Given the description of an element on the screen output the (x, y) to click on. 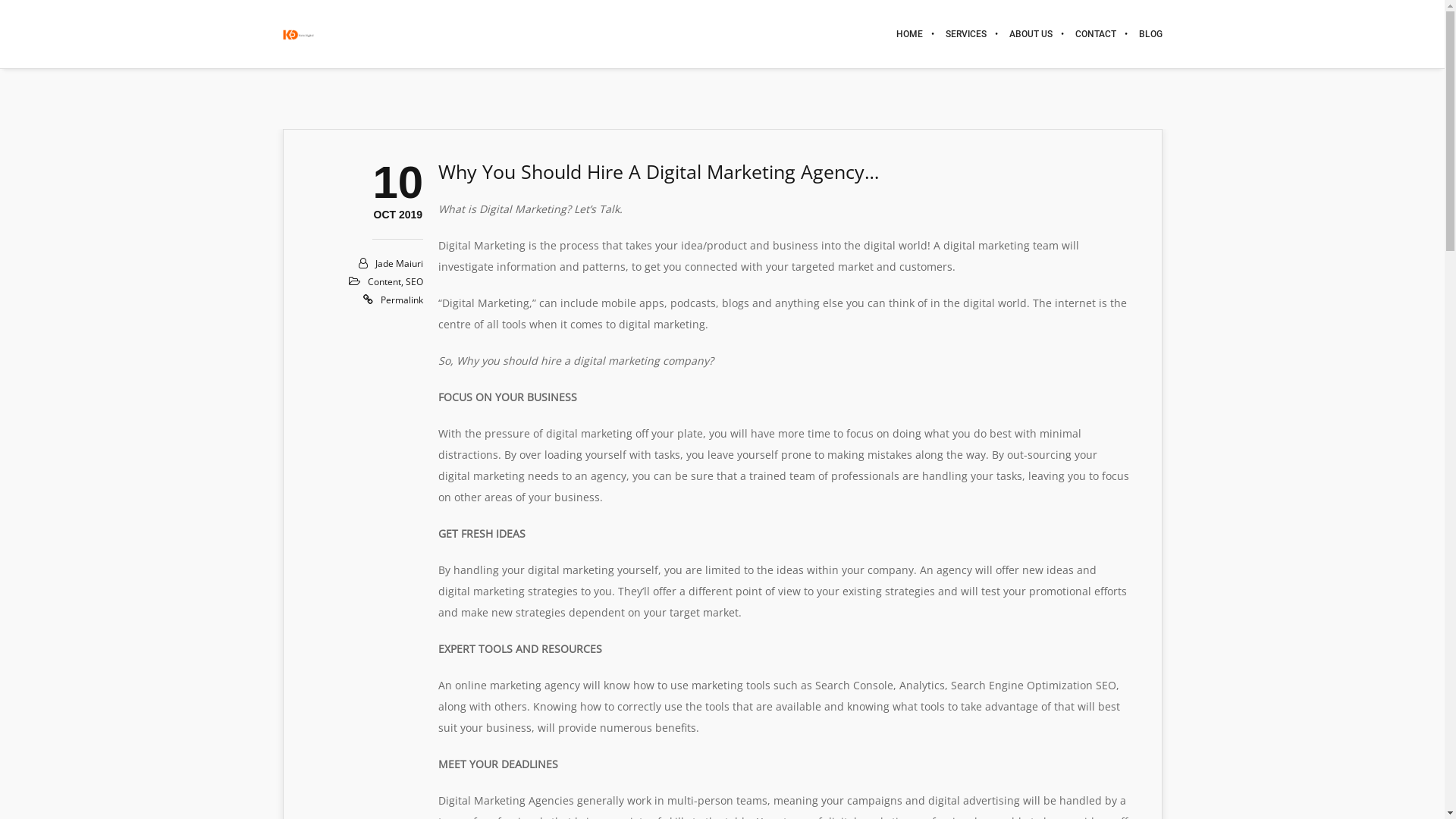
HOME Element type: text (908, 34)
BLOG Element type: text (1143, 34)
Content Element type: text (384, 281)
SERVICES Element type: text (965, 34)
Jade Maiuri Element type: text (399, 263)
SEO Element type: text (414, 281)
Permalink Element type: text (401, 299)
CONTACT Element type: text (1094, 34)
10
OCT 2019 Element type: text (397, 214)
ABOUT US Element type: text (1030, 34)
